Given the description of an element on the screen output the (x, y) to click on. 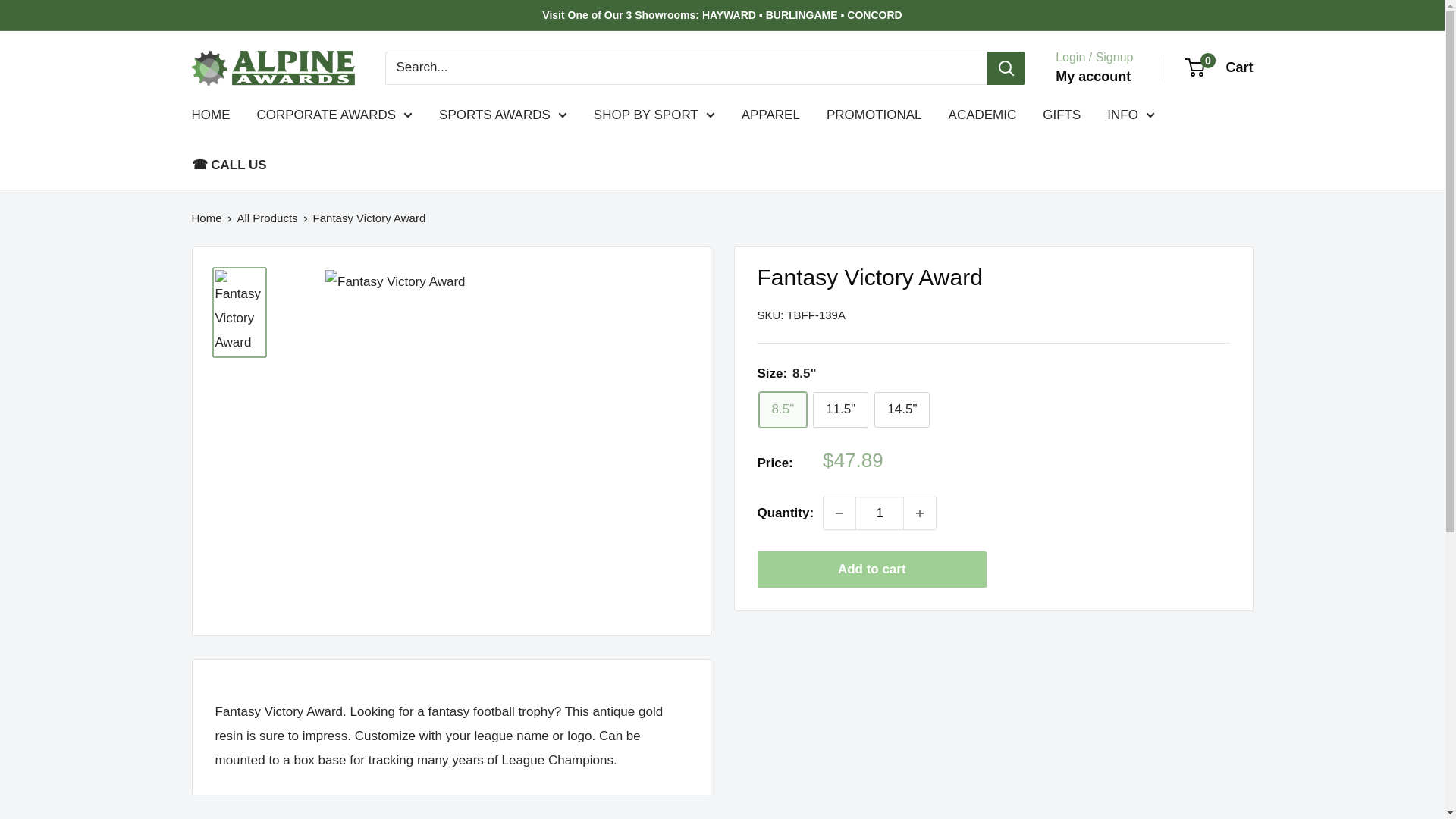
8.5" (782, 409)
Decrease quantity by 1 (840, 513)
Increase quantity by 1 (920, 513)
14.5" (902, 409)
1 (880, 513)
11.5" (839, 409)
